Given the description of an element on the screen output the (x, y) to click on. 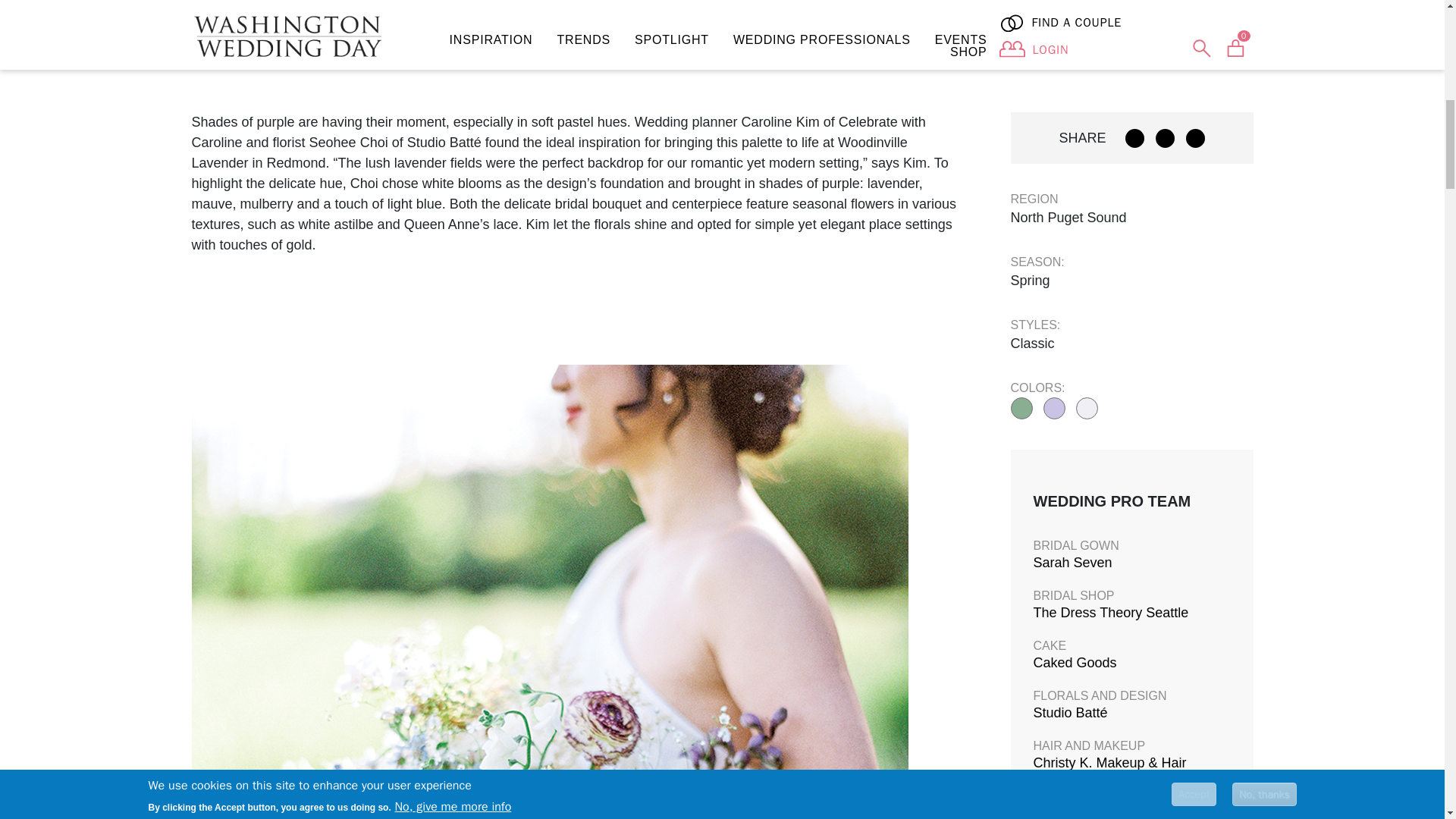
Share to Pinterest (1165, 138)
The Dress Theory Seattle (1110, 612)
Share to Facebook (1134, 138)
Share to Email (1195, 138)
Bill Quach (1063, 812)
Caked Goods (1074, 662)
